Given the description of an element on the screen output the (x, y) to click on. 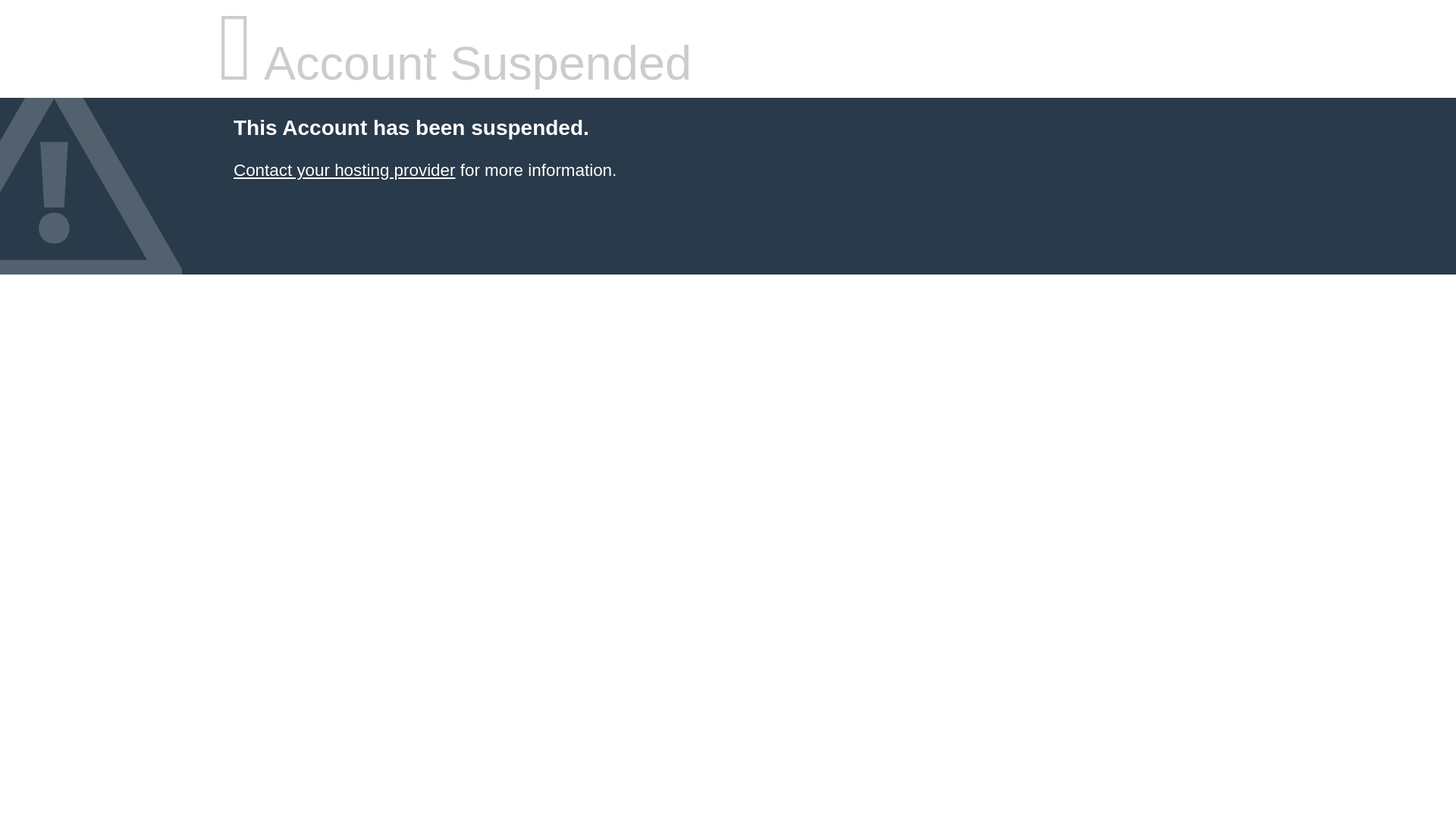
Contact your hosting provider (343, 169)
